Given the description of an element on the screen output the (x, y) to click on. 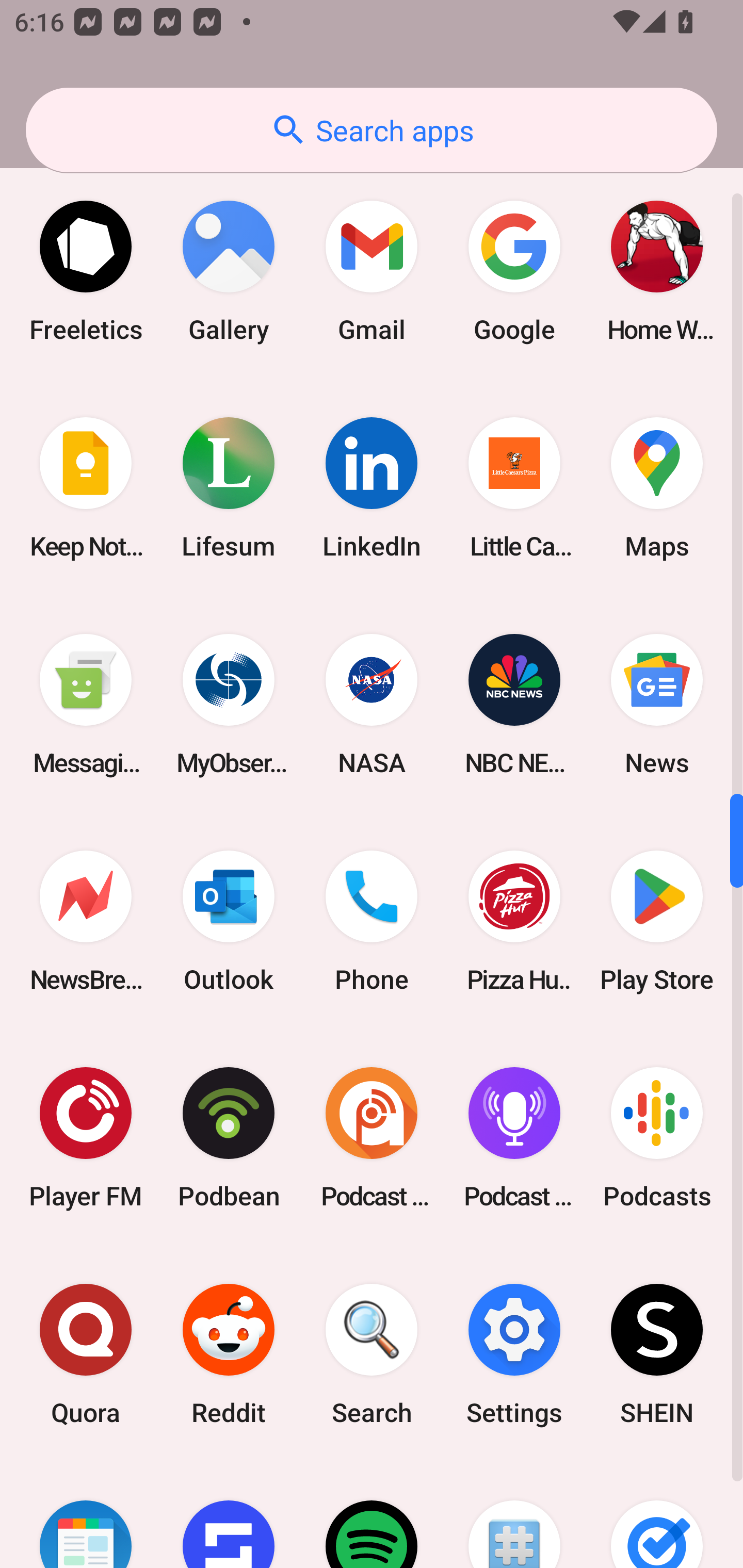
  Search apps (371, 130)
Freeletics (85, 271)
Gallery (228, 271)
Gmail (371, 271)
Google (514, 271)
Home Workout (656, 271)
Keep Notes (85, 487)
Lifesum (228, 487)
LinkedIn (371, 487)
Little Caesars Pizza (514, 487)
Maps (656, 487)
Messaging (85, 703)
MyObservatory (228, 703)
NASA (371, 703)
NBC NEWS (514, 703)
News (656, 703)
NewsBreak (85, 921)
Outlook (228, 921)
Phone (371, 921)
Pizza Hut HK & Macau (514, 921)
Play Store (656, 921)
Player FM (85, 1138)
Podbean (228, 1138)
Podcast Addict (371, 1138)
Podcast Player (514, 1138)
Podcasts (656, 1138)
Quora (85, 1354)
Reddit (228, 1354)
Search (371, 1354)
Settings (514, 1354)
SHEIN (656, 1354)
SmartNews (85, 1515)
Sofascore (228, 1515)
Spotify (371, 1515)
Superuser (514, 1515)
Tasks (656, 1515)
